Given the description of an element on the screen output the (x, y) to click on. 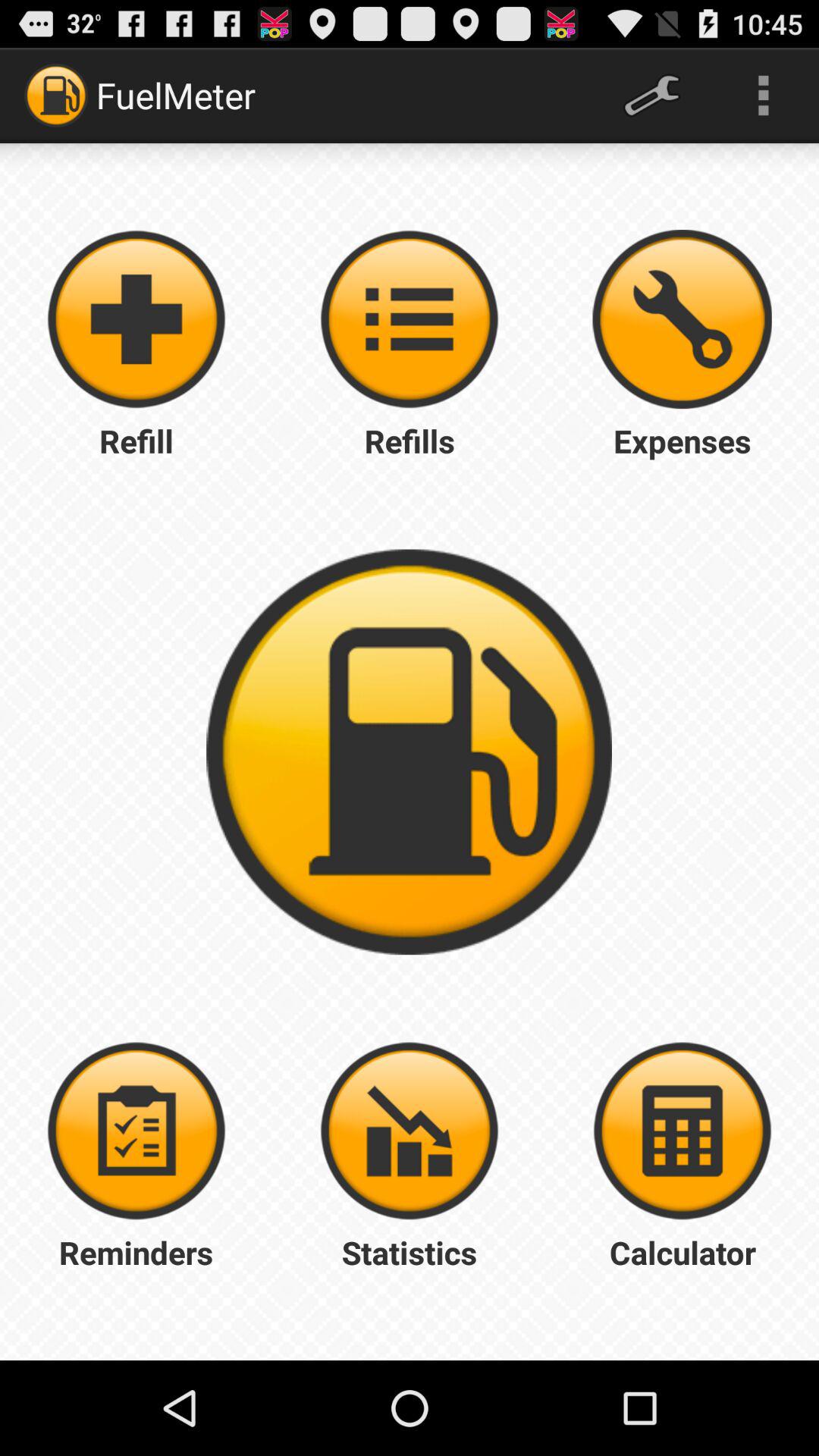
tap item above refills app (682, 318)
